Given the description of an element on the screen output the (x, y) to click on. 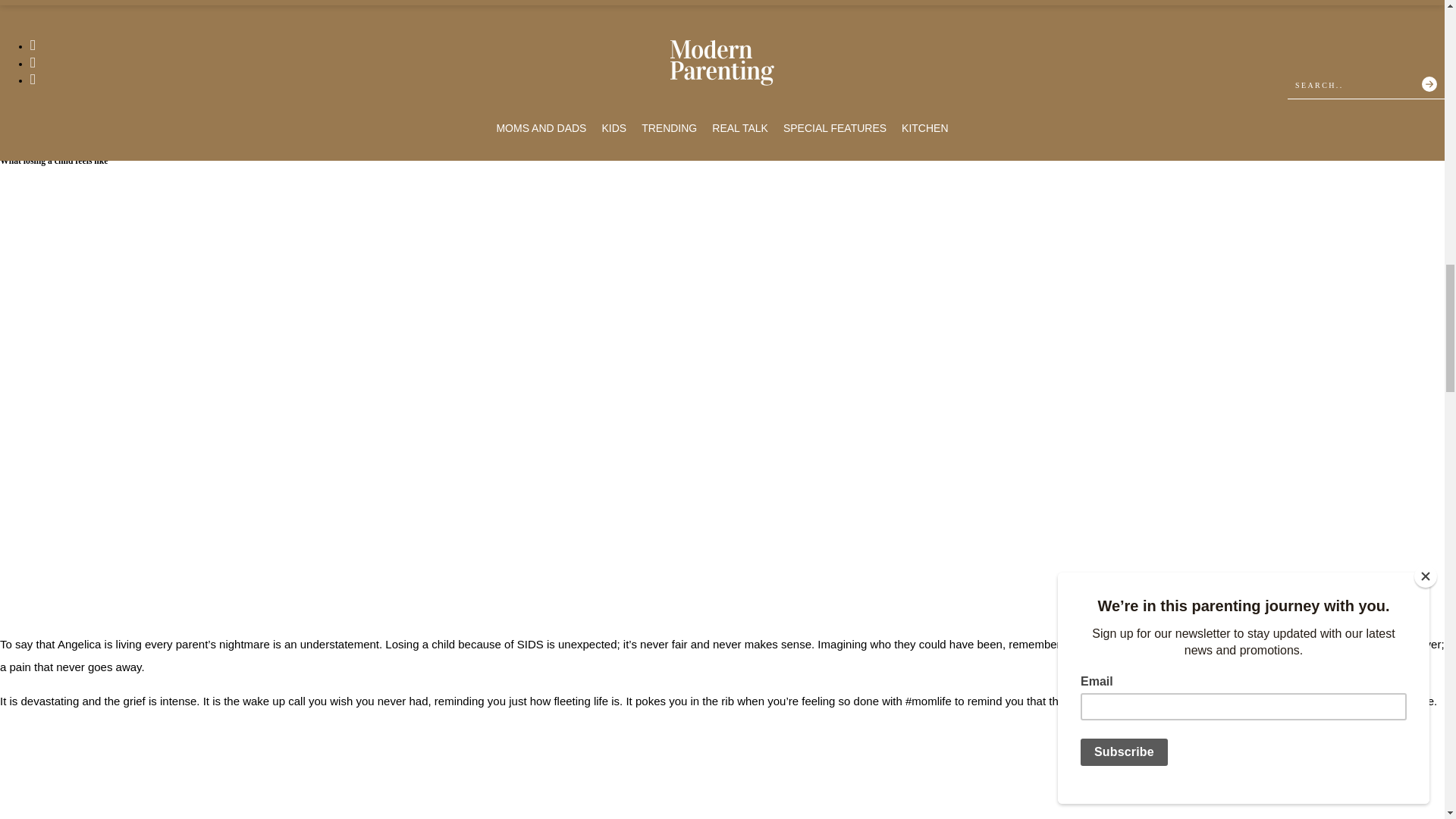
first love (60, 64)
CoComelon (252, 98)
